Given the description of an element on the screen output the (x, y) to click on. 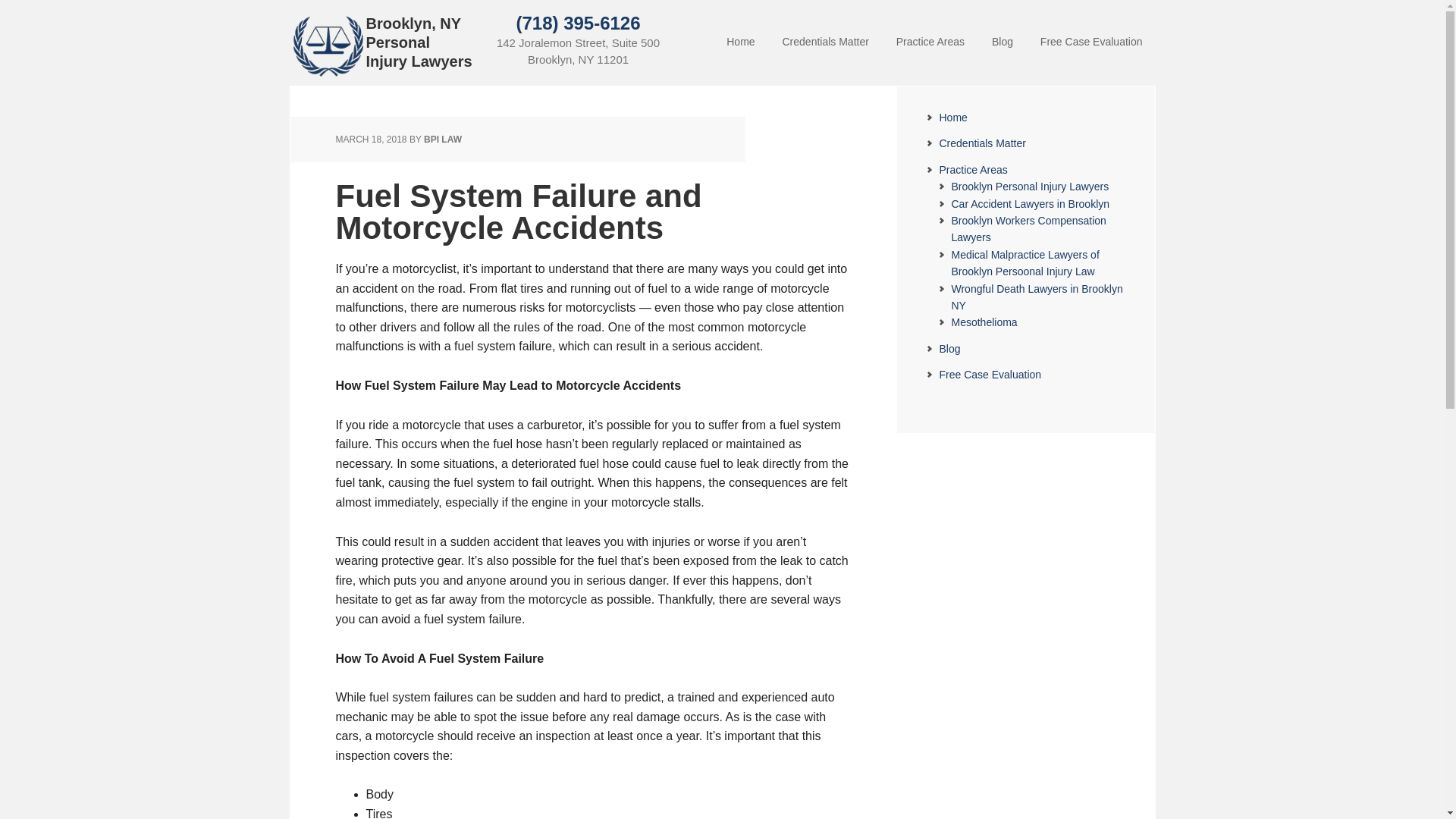
BPI LAW (442, 139)
Free Case Evaluation (1090, 42)
Mesothelioma (983, 322)
Free Case Evaluation (990, 374)
Medical Malpractice Lawyers of Brooklyn Persoonal Injury Law (1024, 262)
Wrongful Death Lawyers in Brooklyn NY (1036, 297)
Home (952, 117)
Credentials Matter (982, 143)
Car Accident Lawyers in Brooklyn (1029, 203)
Brooklyn Workers Compensation Lawyers (1027, 228)
